Given the description of an element on the screen output the (x, y) to click on. 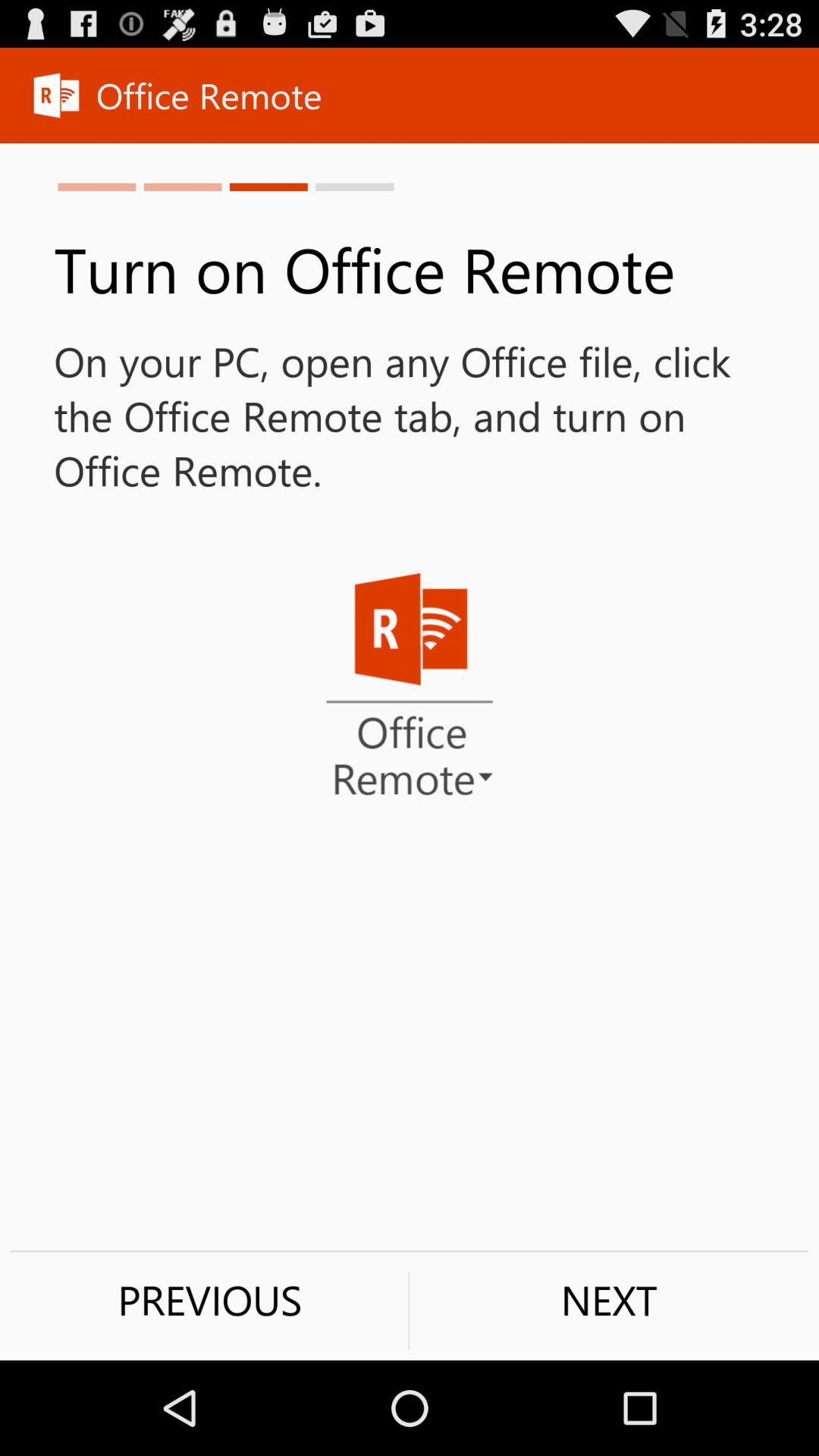
select item to the left of next item (209, 1300)
